Given the description of an element on the screen output the (x, y) to click on. 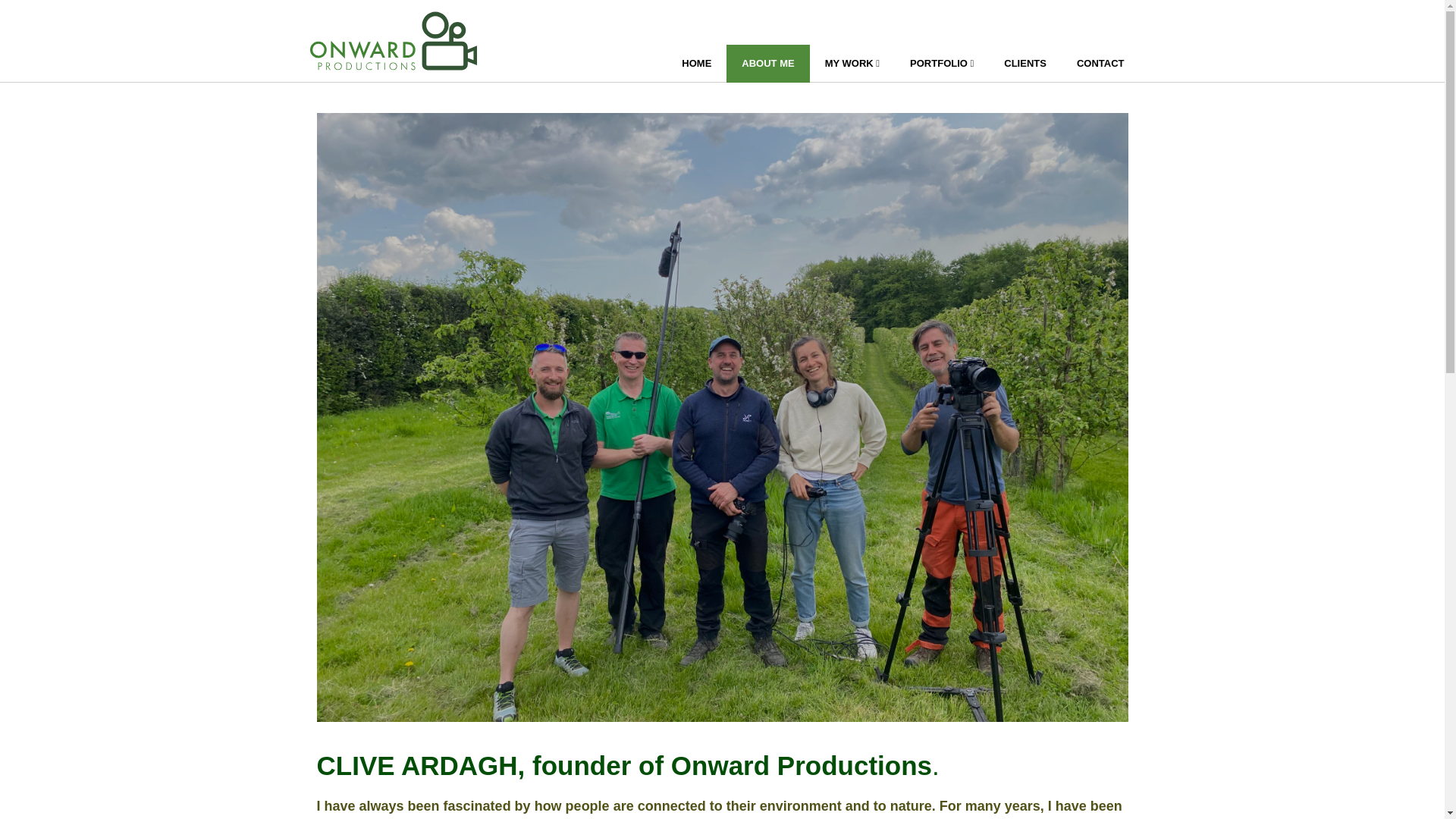
CONTACT (1100, 63)
HOME (696, 63)
ABOUT ME (767, 63)
CLIENTS (1024, 63)
